Given the description of an element on the screen output the (x, y) to click on. 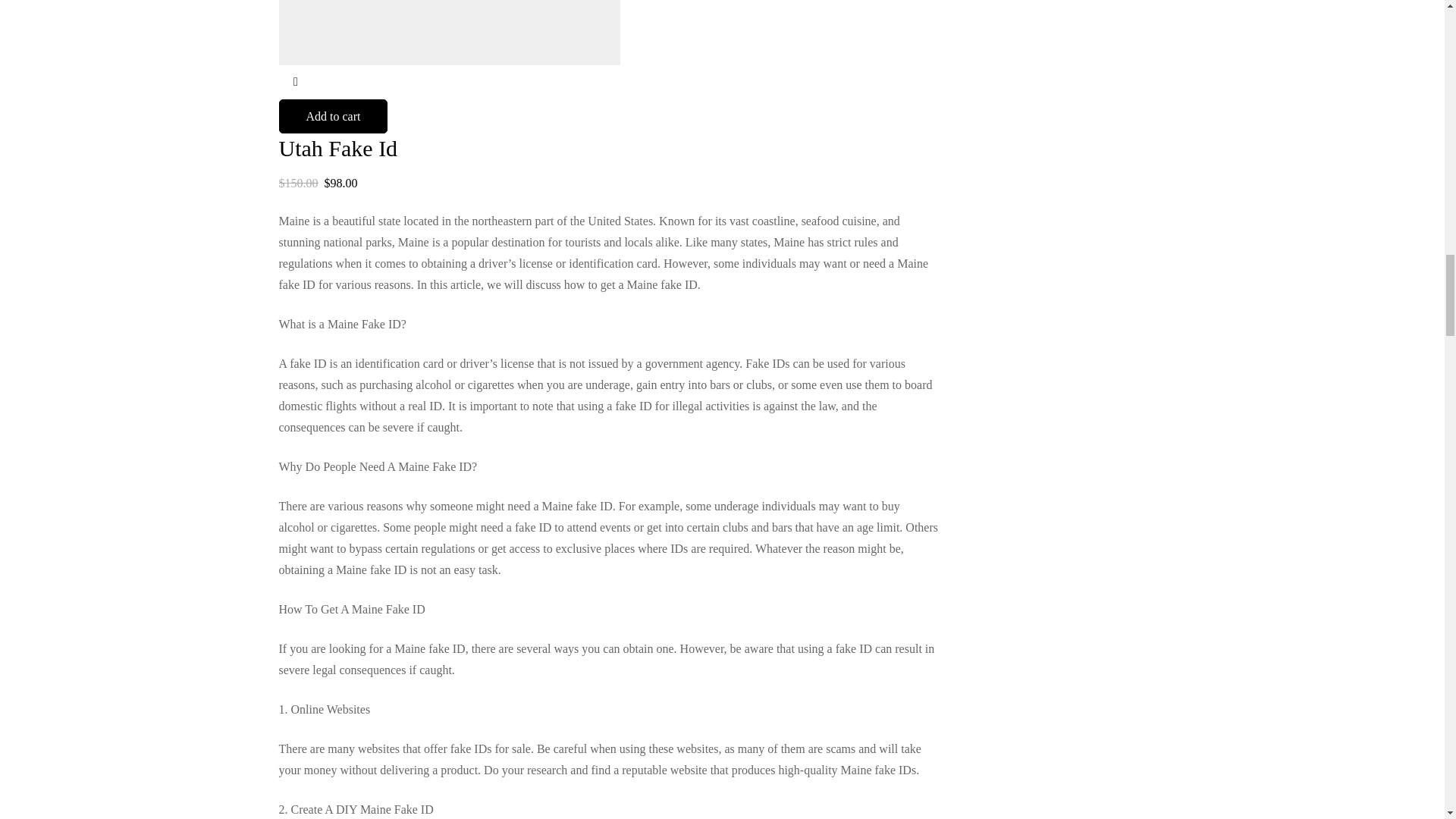
Utah Fake Id (338, 147)
Quick view (296, 82)
Add to cart (333, 116)
